Given the description of an element on the screen output the (x, y) to click on. 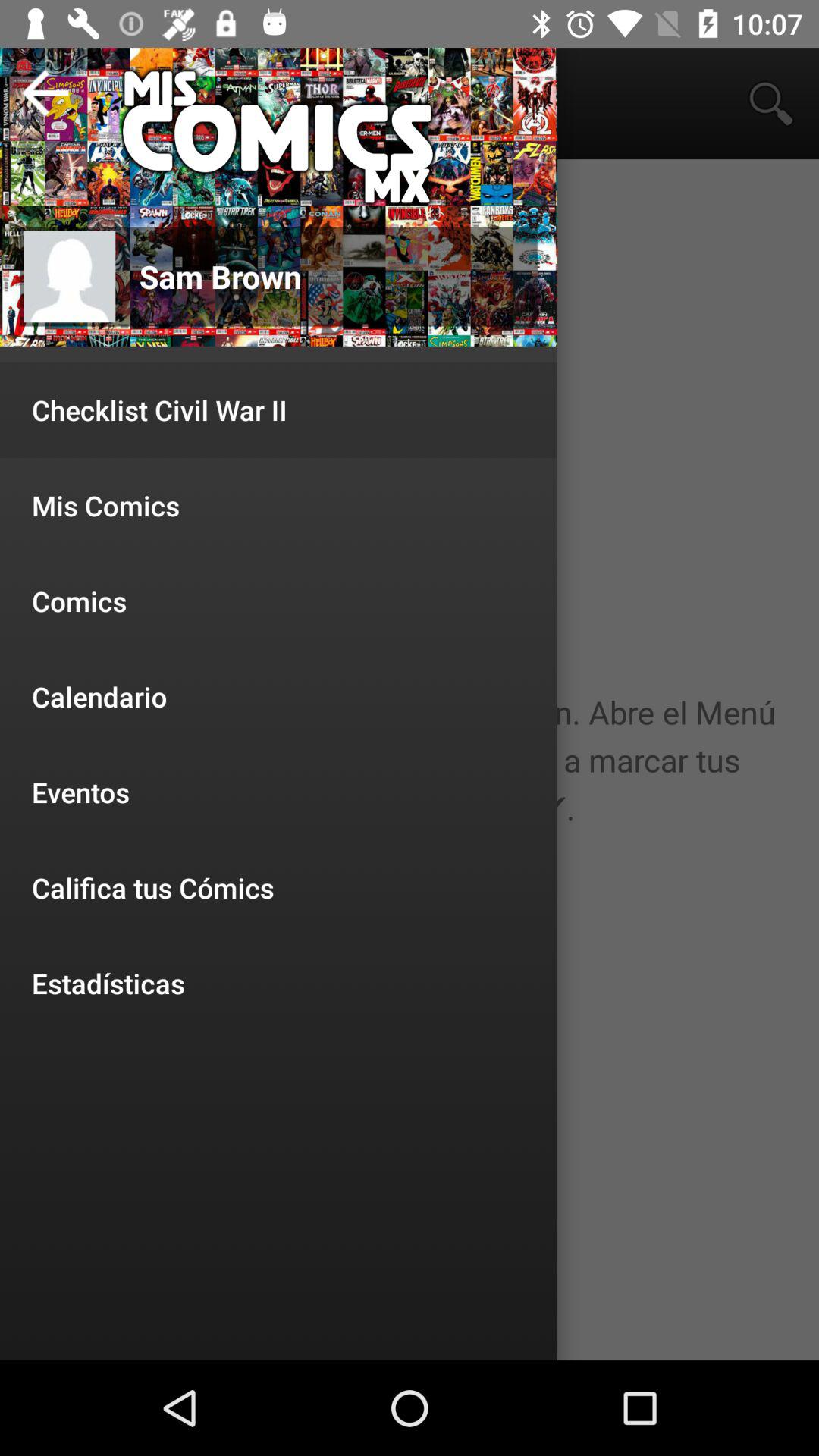
click the search icon (771, 103)
